Given the description of an element on the screen output the (x, y) to click on. 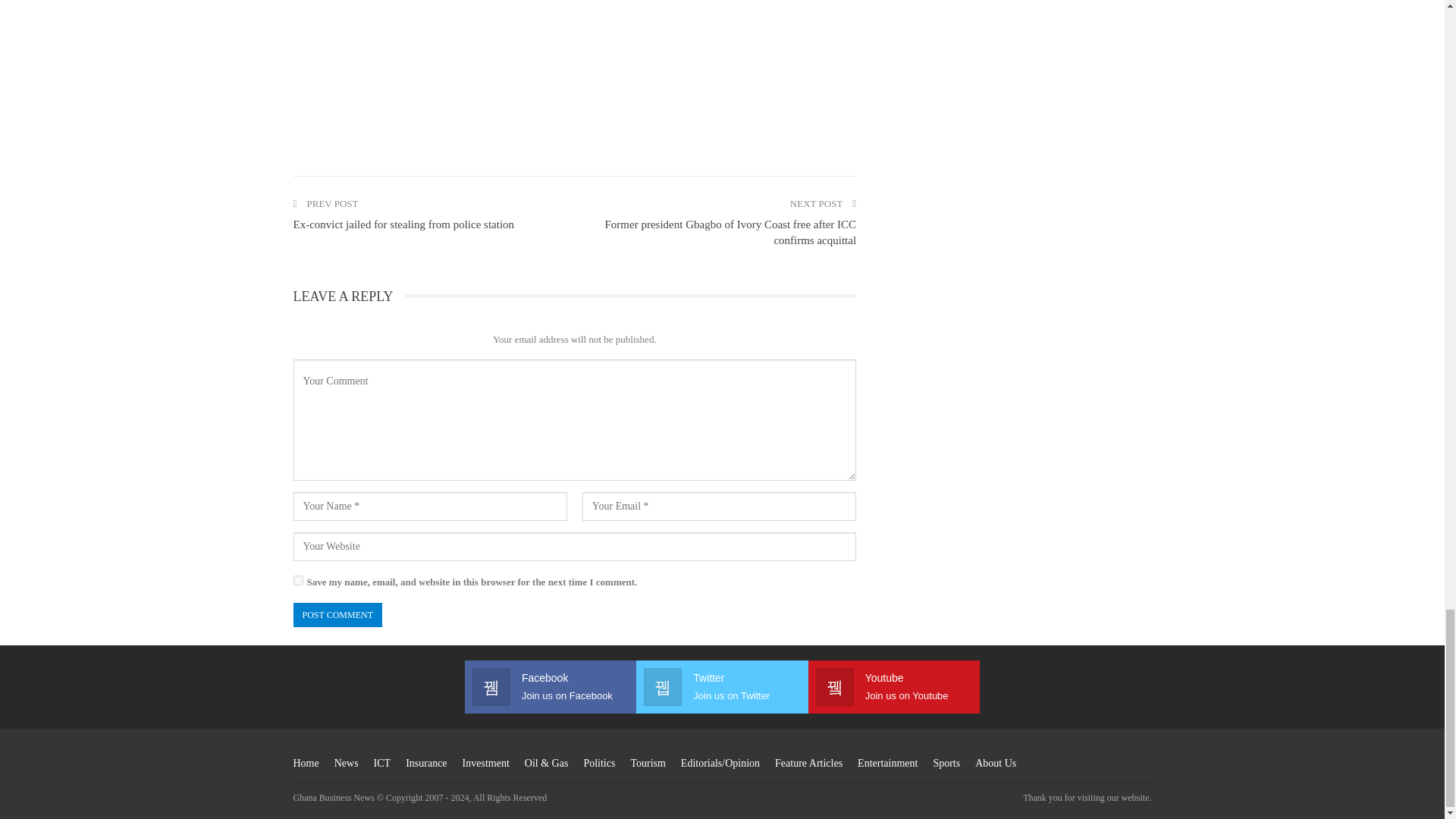
Ex-convict jailed for stealing from police station (402, 224)
Post Comment (336, 614)
Post Comment (336, 614)
yes (297, 580)
